Given the description of an element on the screen output the (x, y) to click on. 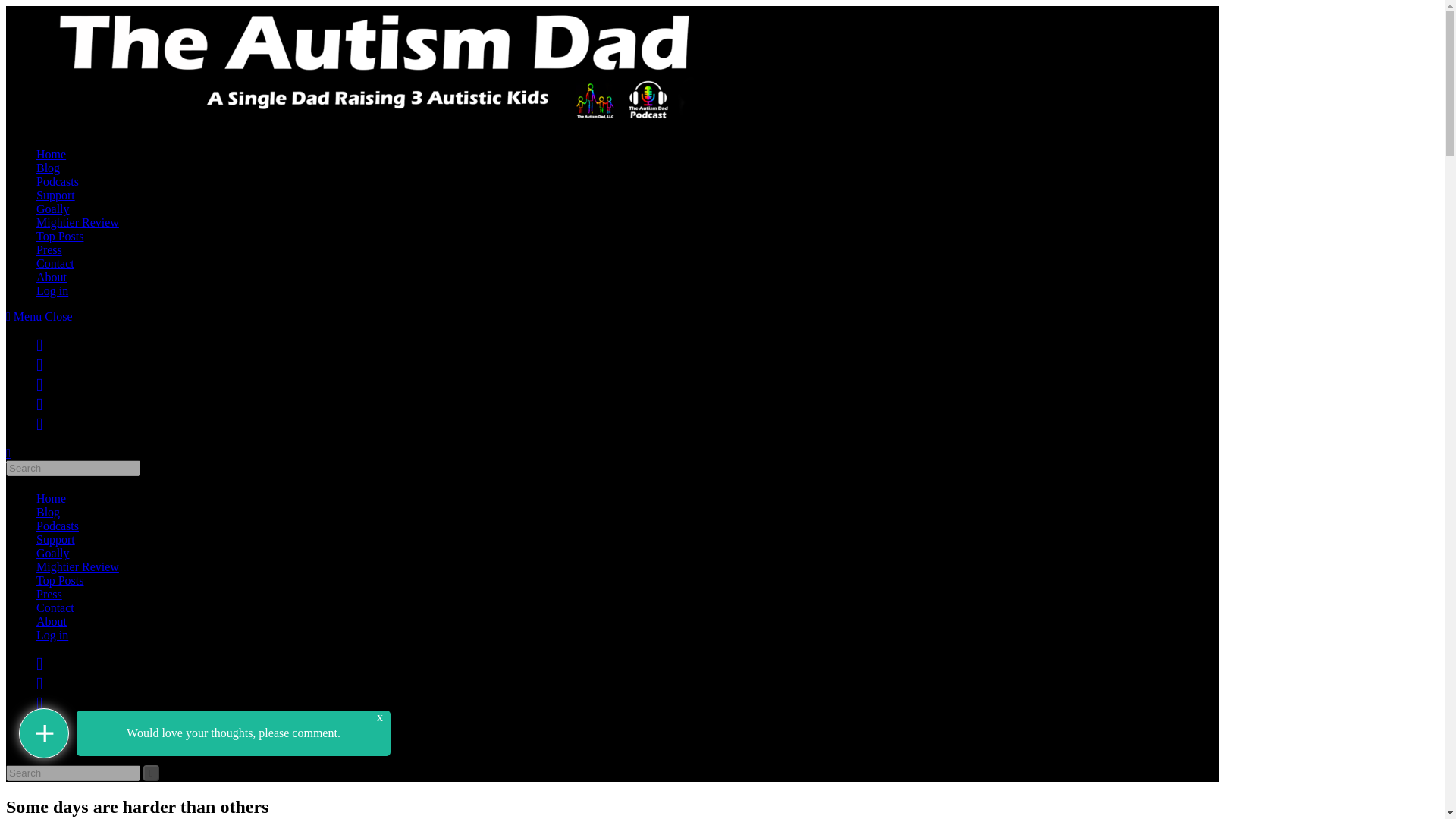
Support (55, 195)
Log in (52, 290)
Home (50, 498)
Goally (52, 208)
Blog (47, 512)
Top Posts (59, 580)
About (51, 277)
Blog (47, 167)
Mightier Review (77, 222)
Press (49, 249)
Log in (52, 634)
Top Posts (59, 236)
About (51, 621)
Podcasts (57, 181)
